Given the description of an element on the screen output the (x, y) to click on. 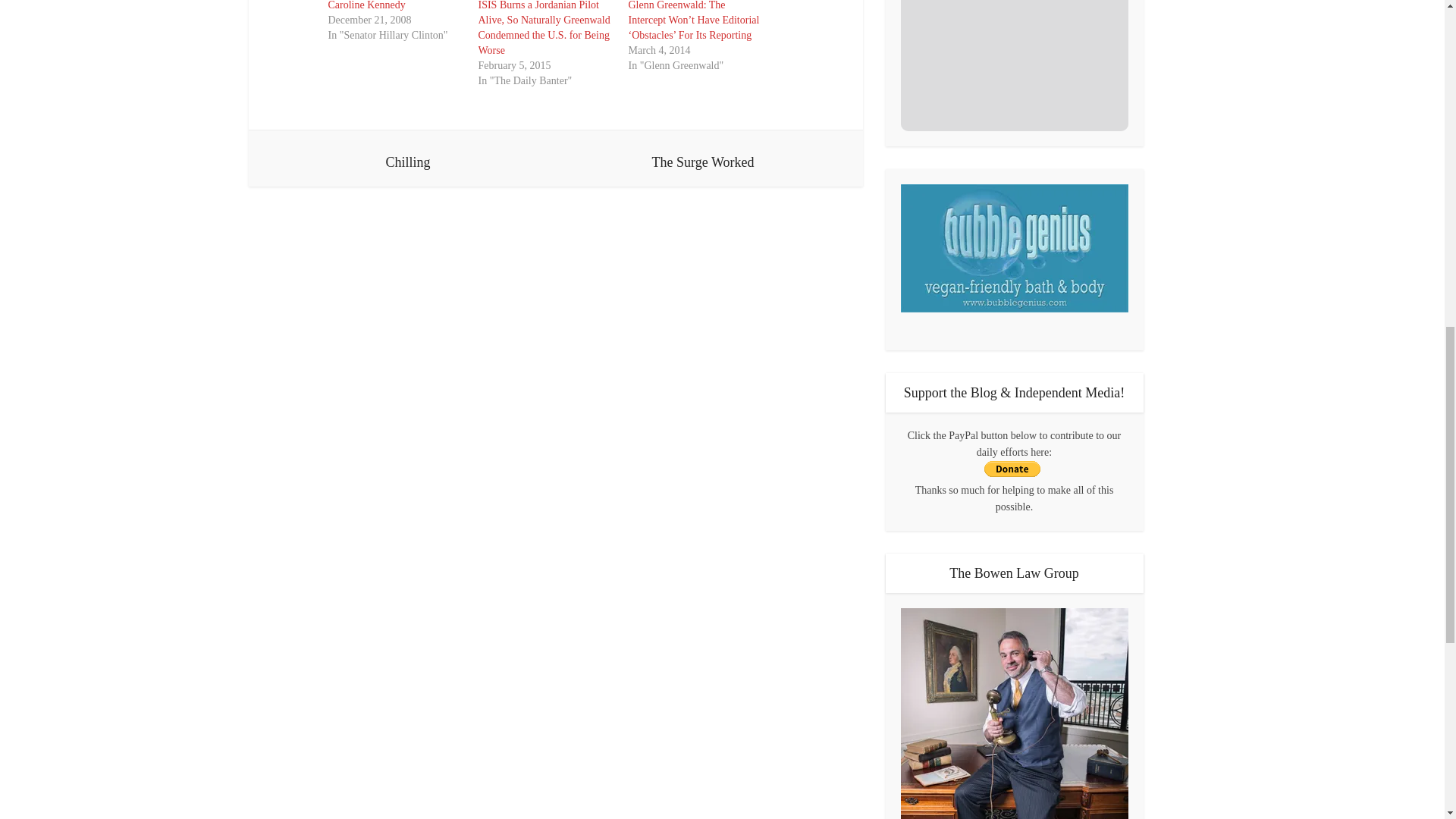
PayPal - The safer, easier way to pay online! (1012, 468)
Caroline Kennedy (365, 5)
The Surge Worked (702, 158)
Caroline Kennedy (365, 5)
Chilling (408, 158)
